Given the description of an element on the screen output the (x, y) to click on. 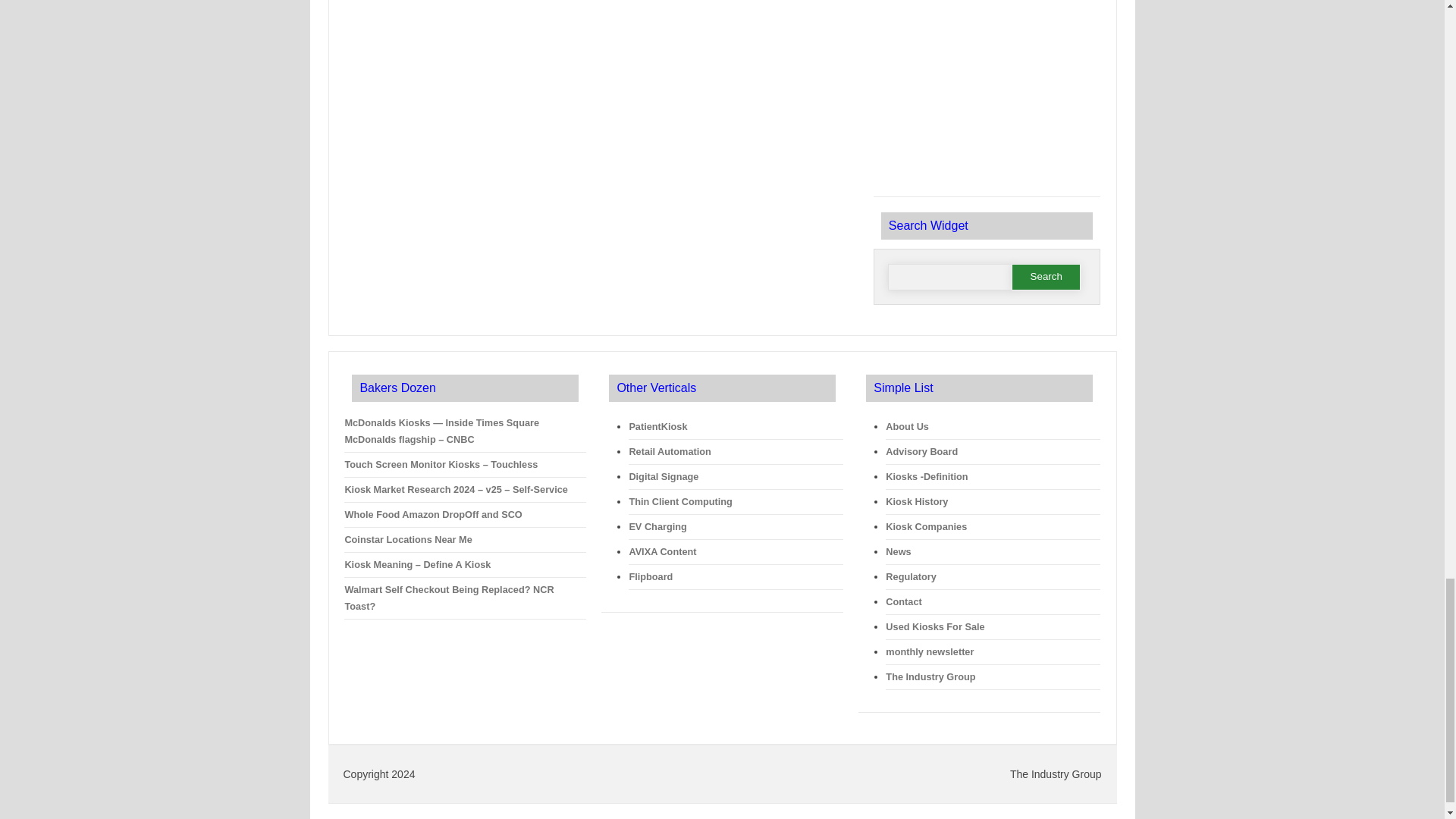
Healthcare kiosk HIMSS (986, 94)
Search (1045, 276)
